Given the description of an element on the screen output the (x, y) to click on. 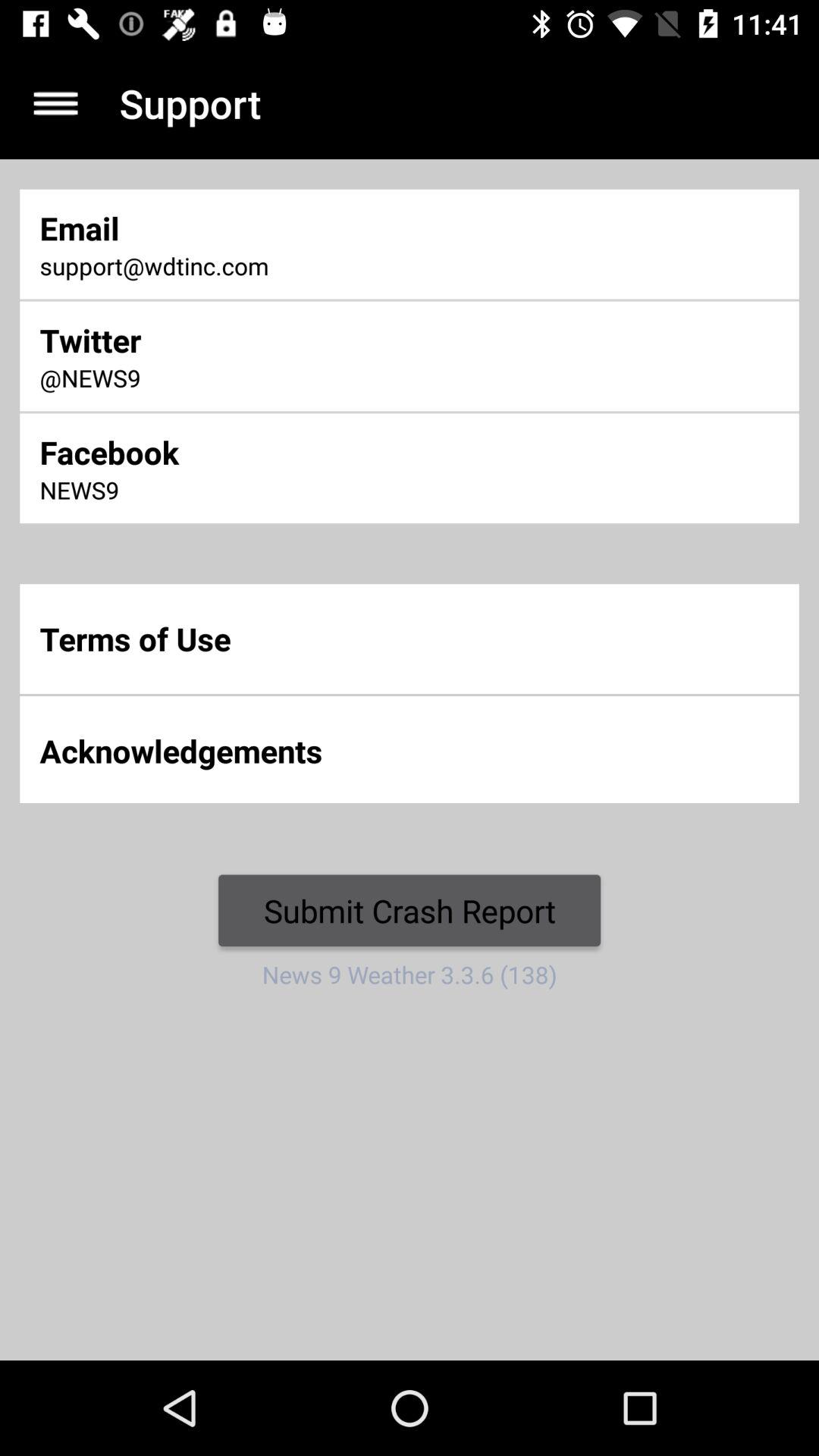
turn on the icon below email (270, 267)
